Given the description of an element on the screen output the (x, y) to click on. 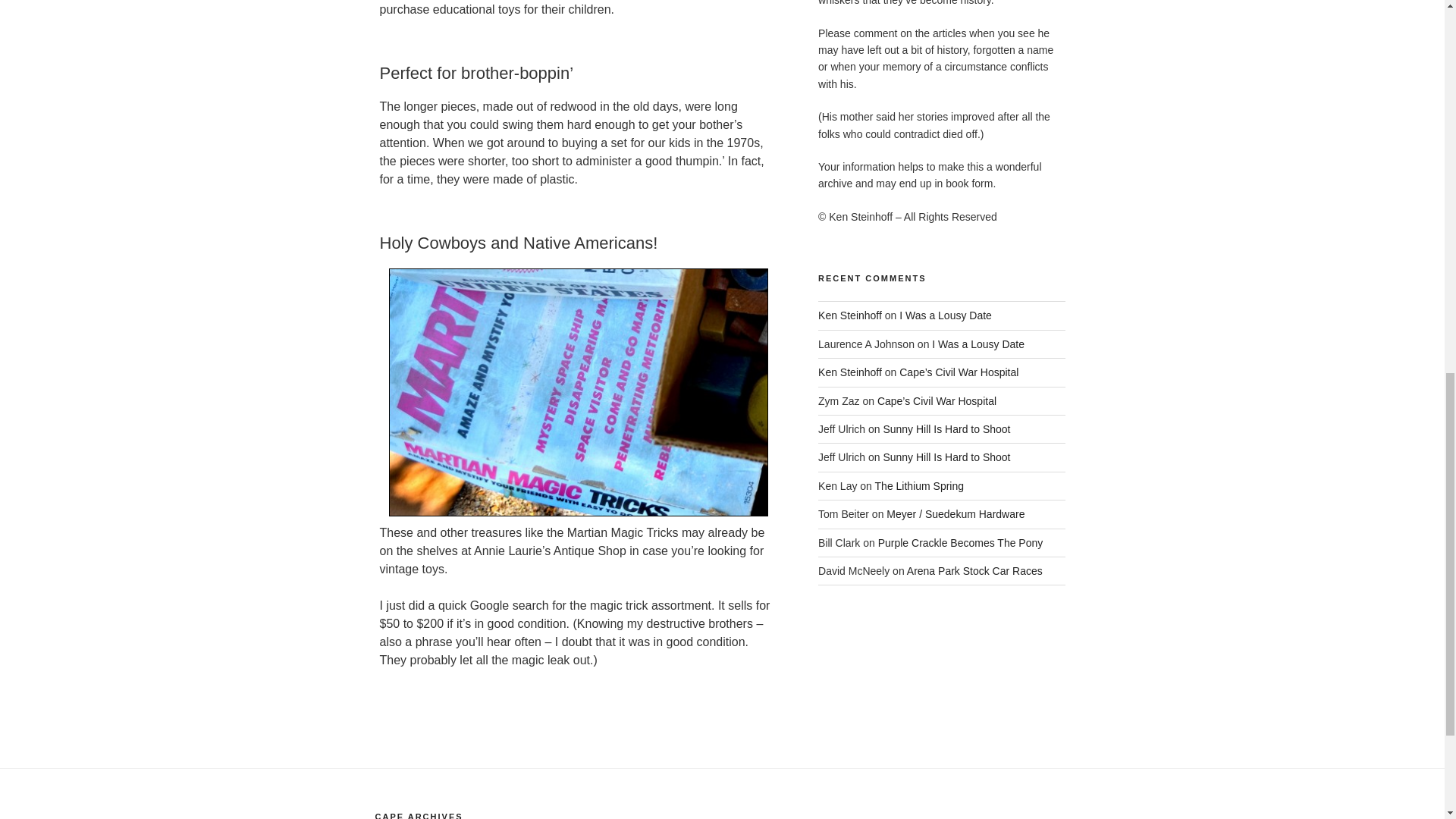
Arena Park Stock Car Races (974, 571)
The Lithium Spring (919, 485)
Sunny Hill Is Hard to Shoot (946, 457)
Purple Crackle Becomes The Pony (960, 542)
Ken Steinhoff (850, 315)
I Was a Lousy Date (978, 344)
Ken Steinhoff (850, 372)
I Was a Lousy Date (945, 315)
Sunny Hill Is Hard to Shoot (946, 428)
